Given the description of an element on the screen output the (x, y) to click on. 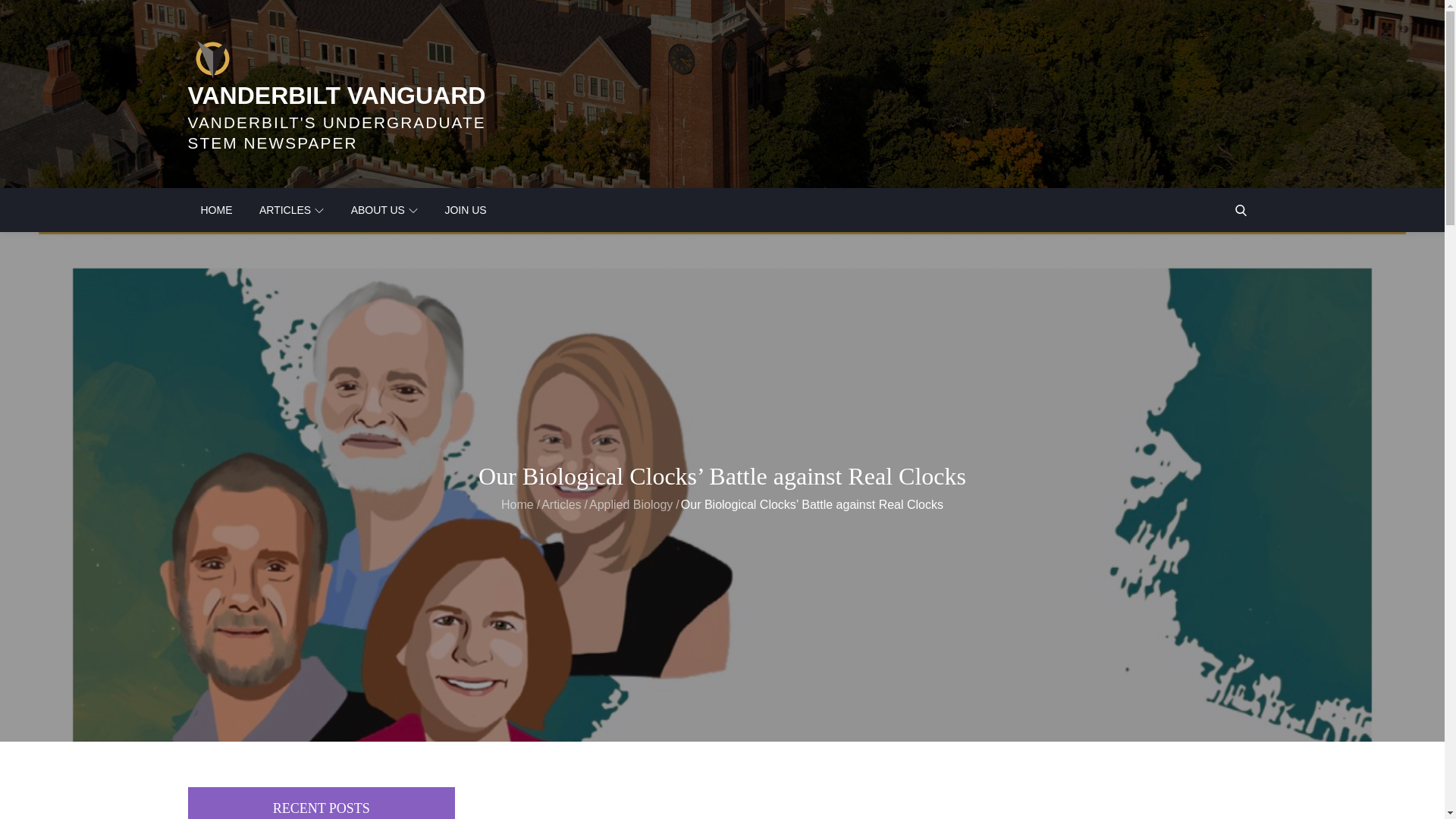
ARTICLES (291, 209)
VANDERBILT VANGUARD (336, 94)
Home (517, 504)
Articles (560, 504)
ABOUT US (383, 209)
HOME (216, 209)
Applied Biology (630, 504)
JOIN US (464, 209)
